Given the description of an element on the screen output the (x, y) to click on. 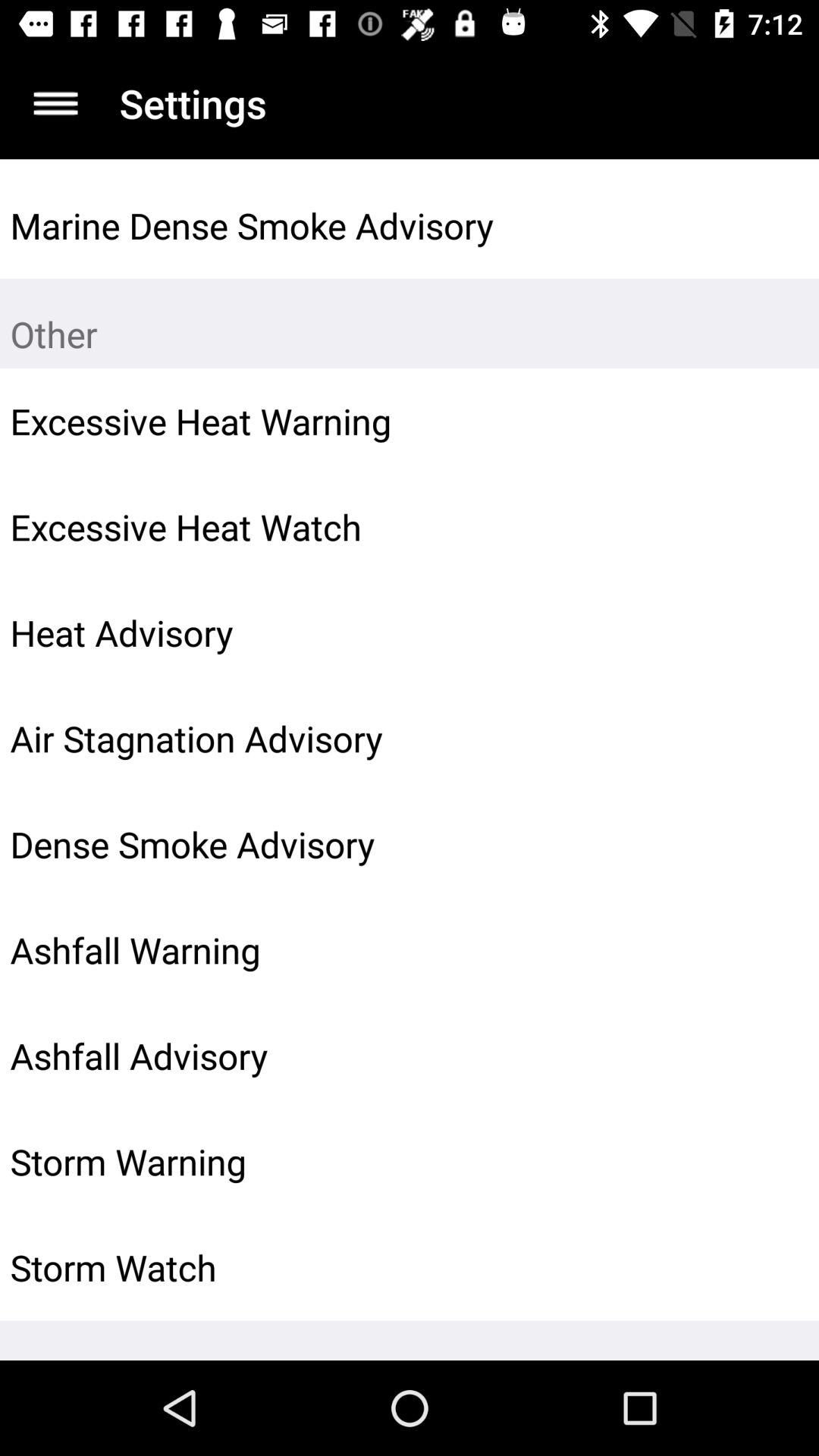
click item next to ashfall warning icon (771, 950)
